Given the description of an element on the screen output the (x, y) to click on. 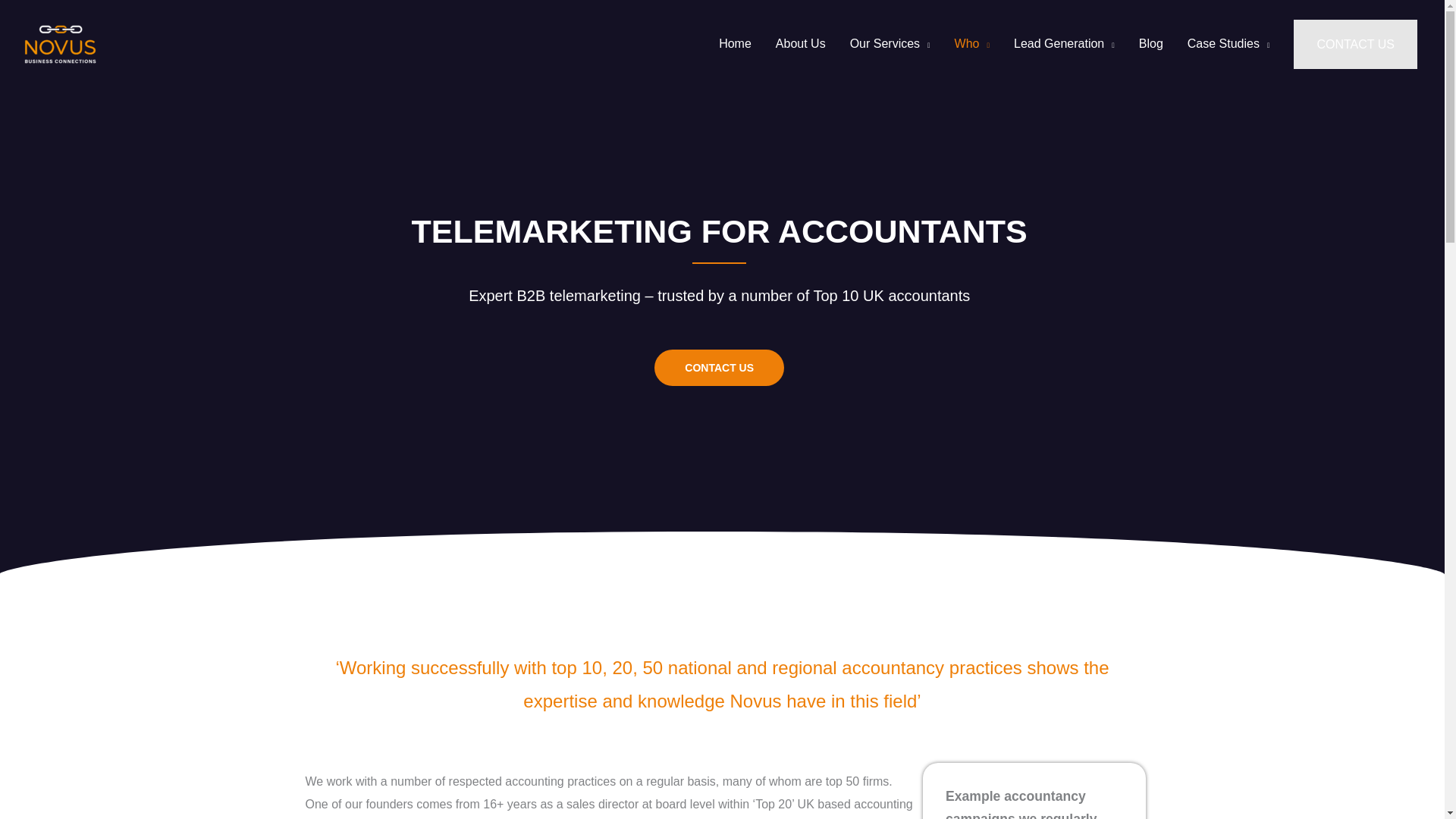
About Us (800, 44)
Case Studies (1228, 44)
CONTACT US (1355, 44)
Who (971, 44)
Lead Generation (1063, 44)
CONTACT US (718, 367)
Blog (1150, 44)
Our Services (890, 44)
Home (734, 44)
